Given the description of an element on the screen output the (x, y) to click on. 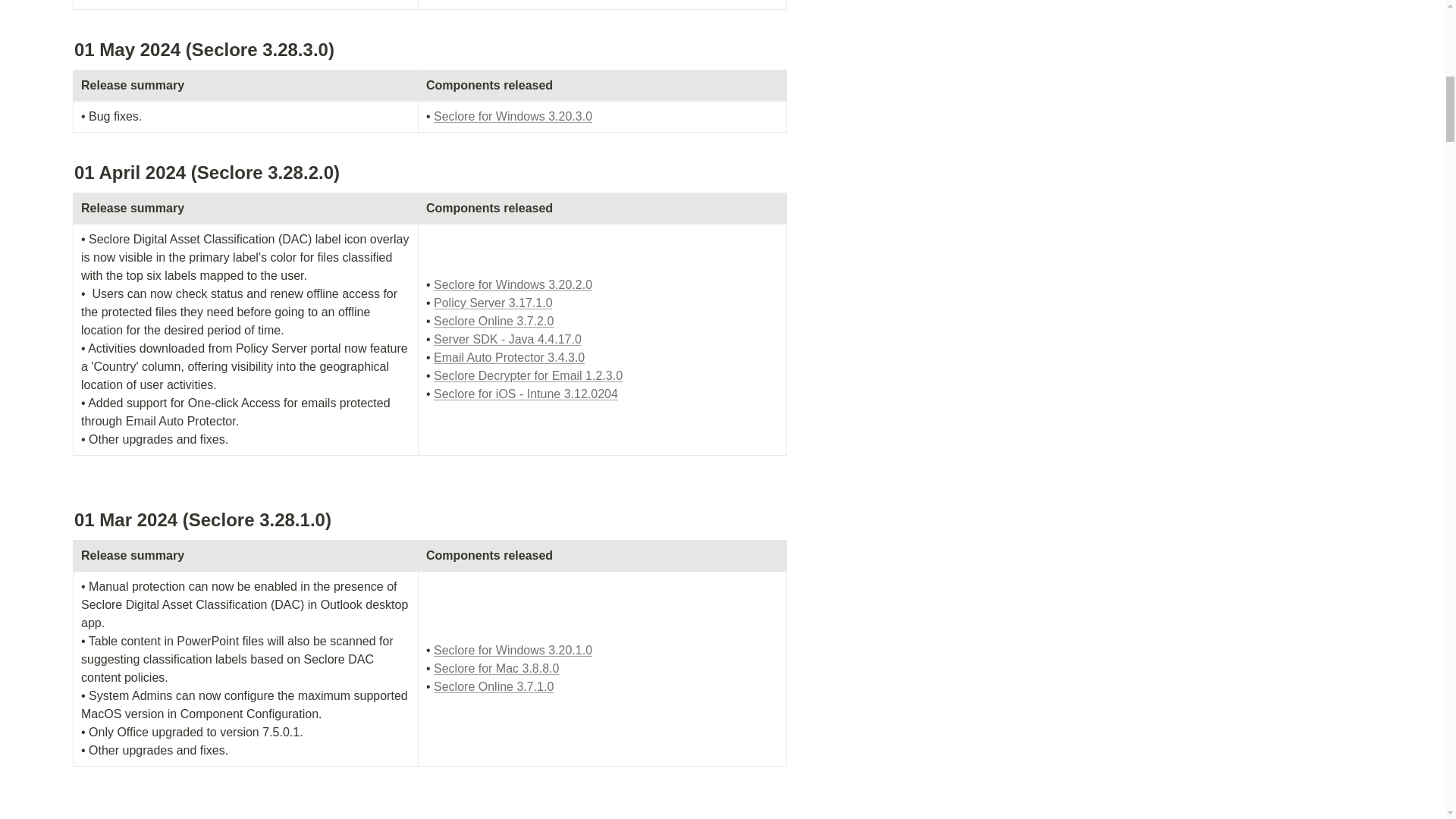
Seclore for Windows 3.20.1.0 (512, 649)
Seclore for Windows 3.20.3.0 (512, 115)
Seclore Decrypter for Email 1.2.3.0 (528, 375)
Seclore for iOS - Intune 3.12.0204 (525, 393)
Server SDK - Java 4.4.17.0 (506, 338)
Email Auto Protector 3.4.3.0 (509, 357)
Seclore for Windows 3.20.2.0 (512, 284)
Seclore Online 3.7.2.0 (493, 320)
Policy Server 3.17.1.0 (493, 302)
Seclore Online 3.7.1.0 (493, 686)
